Given the description of an element on the screen output the (x, y) to click on. 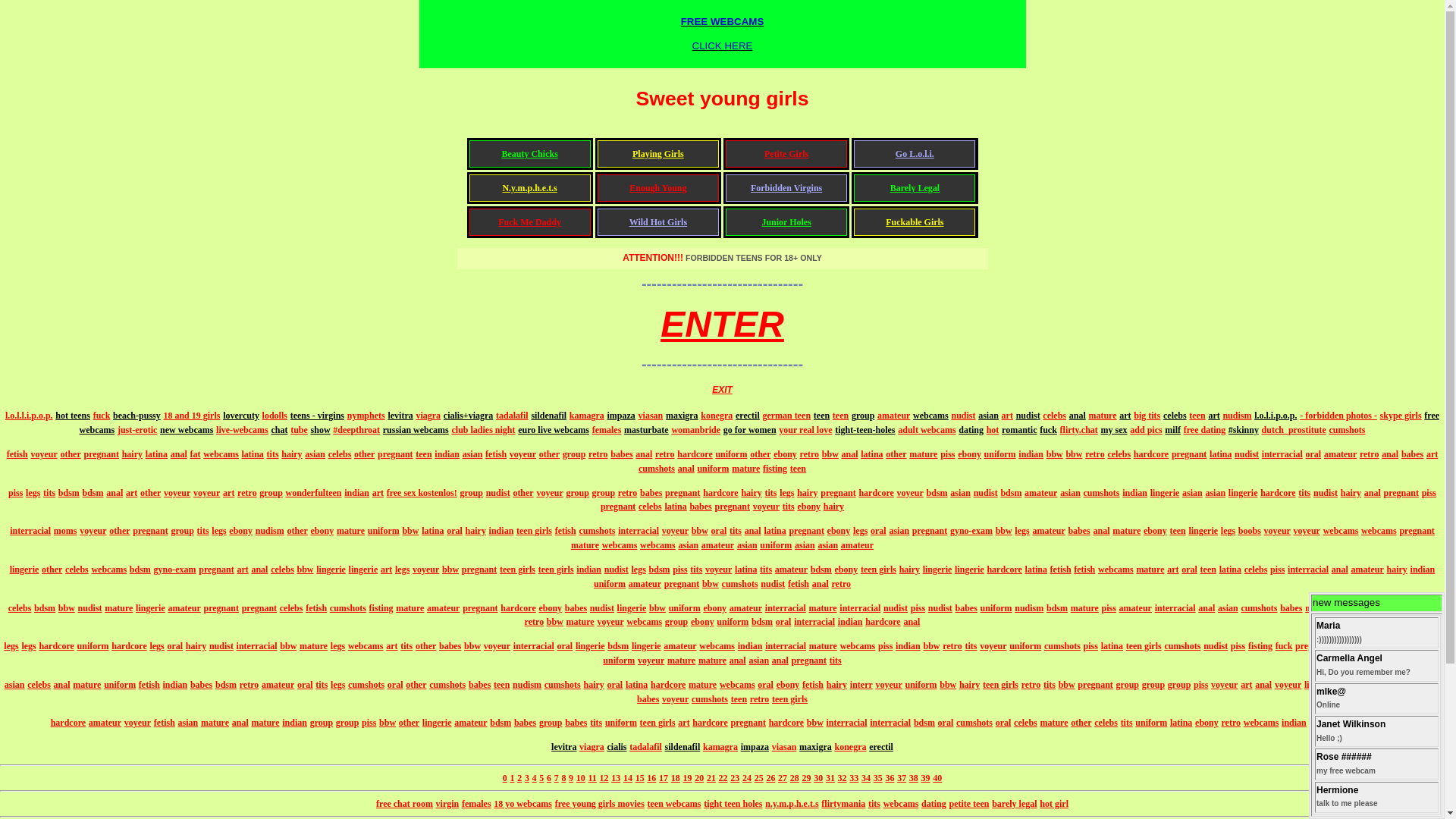
teen Element type: text (821, 415)
tits Element type: text (788, 506)
dutch_prostitute Element type: text (1293, 429)
indian Element type: text (1392, 607)
tight teen holes Element type: text (732, 803)
retro Element type: text (759, 698)
hairy Element type: text (475, 530)
group Element type: text (573, 453)
viasan Element type: text (650, 415)
nudist Element type: text (601, 607)
bdsm Element type: text (44, 607)
tits Element type: text (1304, 492)
18 yo webcams Element type: text (522, 803)
tits Element type: text (874, 803)
legs Element type: text (1340, 645)
oral Element type: text (454, 530)
anal Element type: text (1263, 684)
tits Element type: text (49, 492)
webcams Element type: text (1378, 530)
nudist Element type: text (895, 607)
latina Element type: text (675, 506)
voyeur Element type: text (137, 722)
webcams Element type: text (930, 415)
nudism Element type: text (1236, 415)
art Element type: text (391, 645)
oral Element type: text (305, 684)
retro Element type: text (664, 453)
hardcore Element type: text (55, 645)
amateur Element type: text (1340, 453)
babes Element type: text (525, 722)
piss Element type: text (1428, 492)
cumshots Element type: text (447, 684)
asian Element type: text (472, 453)
oral Element type: text (1189, 569)
tits Element type: text (970, 645)
Fuckable Girls Element type: text (914, 221)
- forbidden photos - Element type: text (1338, 415)
hardcore Element type: text (128, 645)
latina Element type: text (1181, 722)
babes Element type: text (201, 684)
asian Element type: text (827, 544)
oral Element type: text (945, 722)
ebony Element type: text (1155, 530)
bbw Element type: text (699, 530)
teens - virgins Element type: text (317, 415)
lingerie Element type: text (1202, 530)
indian Element type: text (588, 569)
erectil Element type: text (881, 746)
amateur Element type: text (442, 607)
your real love Element type: text (804, 429)
cumshots Element type: text (562, 684)
asian Element type: text (988, 415)
voyeur Element type: text (1349, 607)
indian Element type: text (446, 453)
Petite Girls Element type: text (786, 153)
amateur Element type: text (1324, 722)
teen webcams Element type: text (674, 803)
asian Element type: text (1192, 492)
group Element type: text (550, 722)
uniform Element type: text (621, 722)
gyno-exam Element type: text (971, 530)
live-webcams Element type: text (242, 429)
webcams Element type: text (220, 453)
teen girls Element type: text (789, 698)
legs Element type: text (402, 569)
5 Element type: text (541, 777)
pregnant Element type: text (1312, 645)
cumshots Element type: text (709, 698)
barely legal Element type: text (1013, 803)
40 Element type: text (936, 777)
mature Element type: text (745, 468)
oral Element type: text (783, 621)
bbw Element type: text (710, 583)
mature Element type: text (1053, 722)
teen Element type: text (738, 698)
retro Element type: text (534, 621)
group Element type: text (181, 530)
nudist Element type: text (772, 583)
levitra Element type: text (563, 746)
interracial Element type: text (785, 607)
celebs Element type: text (38, 684)
latina Element type: text (1112, 645)
art Element type: text (1355, 645)
pregnant Element type: text (929, 530)
indian Element type: text (849, 621)
34 Element type: text (865, 777)
mature Element type: text (712, 660)
cumshots Element type: text (656, 468)
celebs Element type: text (282, 569)
tight-teen-holes Element type: text (864, 429)
moms Element type: text (65, 530)
anal Element type: text (240, 722)
art Element type: text (1246, 684)
piss Element type: text (1200, 684)
ebony Element type: text (1206, 722)
teen Element type: text (798, 468)
nudist Element type: text (962, 415)
tits Element type: text (735, 530)
uniform Element type: text (1424, 645)
anal Element type: text (114, 492)
voyeur Element type: text (888, 684)
boobs Element type: text (1249, 530)
go for women Element type: text (749, 429)
bbw Element type: text (472, 645)
other Element type: text (408, 722)
hairy Element type: text (750, 492)
lingerie Element type: text (937, 569)
fuck Element type: text (1283, 645)
piss Element type: text (917, 607)
teen girls Element type: text (657, 722)
20 Element type: text (698, 777)
my sex Element type: text (1114, 429)
pregnant Element type: text (478, 569)
group Element type: text (1127, 684)
hardcore Element type: text (667, 684)
babes Element type: text (575, 607)
retro Element type: text (1031, 684)
nudist Element type: text (616, 569)
teen Element type: text (1177, 530)
asian Element type: text (188, 722)
indian Element type: text (1134, 492)
pregnant Element type: text (100, 453)
webcams Element type: text (716, 645)
just-erotic Element type: text (136, 429)
hardcore Element type: text (785, 722)
voyeur Element type: text (1224, 684)
mature Element type: text (118, 607)
interr Element type: text (861, 684)
retro Element type: text (1369, 453)
0 Element type: text (504, 777)
piss Element type: text (1412, 684)
hot Element type: text (992, 429)
fetish Element type: text (812, 684)
37 Element type: text (901, 777)
amateur Element type: text (856, 544)
german teen Element type: text (786, 415)
nudism Element type: text (1028, 607)
mature Element type: text (585, 544)
anal Element type: text (779, 660)
bbw Element type: text (554, 621)
interracial Element type: text (533, 645)
pregnant Element type: text (215, 569)
piss Element type: text (1108, 607)
tube Element type: text (298, 429)
fisting Element type: text (1260, 645)
voyeur Element type: text (675, 530)
uniform Element type: text (383, 530)
25 Element type: text (758, 777)
celebs Element type: text (339, 453)
other Element type: text (759, 453)
ebony Element type: text (785, 453)
nudist Element type: text (1325, 492)
9 Element type: text (570, 777)
nudist Element type: text (940, 607)
babes Element type: text (1412, 453)
hairy Element type: text (132, 453)
bbw Element type: text (287, 645)
cumshots Element type: text (739, 583)
legs Element type: text (1021, 530)
interracial Element type: text (29, 530)
tits Element type: text (272, 453)
teen Element type: text (1208, 569)
konegra Element type: text (716, 415)
konegra Element type: text (850, 746)
asian Element type: text (804, 544)
retro Element type: text (1094, 453)
cumshots Element type: text (1101, 492)
group Element type: text (862, 415)
anal Element type: text (752, 530)
amateur Element type: text (679, 645)
legs Element type: text (337, 645)
webcams Element type: text (1115, 569)
free dating Element type: text (1204, 429)
group Element type: text (1382, 722)
hardcore Element type: text (67, 722)
mature Element type: text (580, 621)
webcams Element type: text (619, 544)
Fuck Me Daddy Element type: text (529, 221)
indian Element type: text (907, 645)
other Element type: text (895, 453)
19 Element type: text (686, 777)
pregnant Element type: text (1416, 530)
hot teens Element type: text (72, 415)
bdsm Element type: text (1056, 607)
celebs Element type: text (19, 607)
mature Element type: text (822, 607)
asian Element type: text (687, 544)
10 Element type: text (580, 777)
bdsm Element type: text (92, 492)
indian Element type: text (1422, 569)
uniform Element type: text (93, 645)
free sex kostenlos! Element type: text (421, 492)
group Element type: text (346, 722)
webcams Element type: text (644, 621)
18 Element type: text (675, 777)
teen girls Element type: text (878, 569)
add pics Element type: text (1145, 429)
piss Element type: text (947, 453)
anal Element type: text (1100, 530)
tits Element type: text (1371, 607)
voyeur Element type: text (1277, 530)
mature Element type: text (265, 722)
group Element type: text (603, 492)
asian Element type: text (1227, 607)
n.y.m.p.h.e.t.s Element type: text (791, 803)
hardcore Element type: text (517, 607)
sildenafil Element type: text (682, 746)
nudist Element type: text (1028, 415)
legs Element type: text (860, 530)
group Element type: text (676, 621)
webcams Element type: text (1261, 722)
anal Element type: text (1339, 569)
masturbate Element type: text (646, 429)
babes Element type: text (966, 607)
webcams Element type: text (737, 684)
wonderfulteen Element type: text (313, 492)
13 Element type: text (615, 777)
piss Element type: text (1237, 645)
pregnant Element type: text (837, 492)
voyeur Element type: text (910, 492)
oral Element type: text (719, 530)
babes Element type: text (479, 684)
mature Element type: text (1319, 607)
ENTER Element type: text (722, 324)
tits Element type: text (595, 722)
legs Element type: text (156, 645)
12 Element type: text (603, 777)
voyeur Element type: text (549, 492)
art Element type: text (228, 492)
interracial Element type: text (1174, 607)
16 Element type: text (650, 777)
bdsm Element type: text (617, 645)
voyeur Element type: text (496, 645)
indian Element type: text (1030, 453)
hardcore Element type: text (882, 621)
amateur Element type: text (791, 569)
beach-pussy Element type: text (136, 415)
nymphets Element type: text (366, 415)
nudist Element type: text (1215, 645)
asian Element type: text (14, 684)
lingerie Element type: text (436, 722)
hairy Element type: text (969, 684)
bbw Element type: text (305, 569)
FREE WEBCAMS
CLICK HERE Element type: text (722, 34)
l.o.l.i.p.o.p. Element type: text (1275, 415)
teen Element type: text (501, 684)
uniform Element type: text (921, 684)
latina Element type: text (871, 453)
voyeur Element type: text (1306, 530)
lingerie Element type: text (646, 645)
dating Element type: text (970, 429)
Junior Holes Element type: text (785, 221)
asian Element type: text (1070, 492)
pregnant Element type: text (1094, 684)
latina Element type: text (1230, 569)
39 Element type: text (925, 777)
retro Element type: text (598, 453)
levitra Element type: text (399, 415)
babes Element type: text (1291, 607)
voyeur Element type: text (650, 660)
indian Element type: text (175, 684)
other Element type: text (415, 684)
amateur Element type: text (893, 415)
hairy Element type: text (1350, 492)
skype girls Element type: text (1400, 415)
other Element type: text (549, 453)
hairy Element type: text (1396, 569)
bdsm Element type: text (659, 569)
bdsm Element type: text (1010, 492)
21 Element type: text (710, 777)
fetish Element type: text (1084, 569)
gyno-exam Element type: text (174, 569)
teen Element type: text (840, 415)
uniform Element type: text (1025, 645)
bdsm Element type: text (761, 621)
mature Element type: text (1149, 569)
voyeur Element type: text (176, 492)
adult webcams Element type: text (926, 429)
23 Element type: text (734, 777)
group Element type: text (270, 492)
teen Element type: text (1196, 415)
fetish Element type: text (149, 684)
lingerie Element type: text (1318, 684)
webcams Element type: text (857, 645)
asian Element type: text (758, 660)
lodolls Element type: text (274, 415)
mature Element type: text (409, 607)
uniform Element type: text (1000, 453)
22 Element type: text (723, 777)
art Element type: text (1431, 453)
free chat room Element type: text (404, 803)
ebony Element type: text (808, 506)
celebs Element type: text (1025, 722)
6 Element type: text (548, 777)
webcams Element type: text (901, 803)
art Element type: text (1213, 415)
interracial Element type: text (859, 607)
anal Element type: text (61, 684)
oral Element type: text (1344, 684)
amateur Element type: text (1367, 569)
piss Element type: text (1372, 645)
hardcore Element type: text (1150, 453)
free young girls movies Element type: text (599, 803)
fetish Element type: text (164, 722)
indian Element type: text (1293, 722)
cialis+viagra Element type: text (468, 415)
hardcore Element type: text (719, 492)
cumshots Element type: text (1182, 645)
pregnant Element type: text (731, 506)
33 Element type: text (853, 777)
35 Element type: text (877, 777)
kamagra Element type: text (719, 746)
hairy Element type: text (836, 684)
2 Element type: text (519, 777)
tits Element type: text (1126, 722)
nudist Element type: text (90, 607)
retro Element type: text (952, 645)
uniform Element type: text (609, 583)
lingerie Element type: text (1243, 492)
uniform Element type: text (618, 660)
amateur Element type: text (183, 607)
mature Element type: text (1084, 607)
fetish Element type: text (495, 453)
anal Element type: text (1372, 492)
27 Element type: text (782, 777)
indian Element type: text (294, 722)
mature Element type: text (214, 722)
hardcore Element type: text (694, 453)
31 Element type: text (829, 777)
bbw Element type: text (930, 645)
nudist Element type: text (985, 492)
hairy Element type: text (593, 684)
#skinny Element type: text (1243, 429)
babes Element type: text (575, 722)
interracial Element type: text (638, 530)
mature Element type: text (86, 684)
interracial Element type: text (785, 645)
tits Element type: text (835, 660)
retro Element type: text (1230, 722)
tits Element type: text (321, 684)
lingerie Element type: text (24, 569)
bbw Element type: text (830, 453)
celebs Element type: text (1054, 415)
retro Element type: text (627, 492)
group Element type: text (470, 492)
mature Element type: text (681, 660)
teen girls Element type: text (1000, 684)
lingerie Element type: text (969, 569)
ebony Element type: text (969, 453)
pregnant Element type: text (394, 453)
bdsm Element type: text (936, 492)
Enough Young Element type: text (657, 187)
legs Element type: text (1227, 530)
other Element type: text (522, 492)
8 Element type: text (563, 777)
females Element type: text (476, 803)
15 Element type: text (639, 777)
anal Element type: text (685, 468)
legs Element type: text (218, 530)
club ladies night Element type: text (482, 429)
amateur Element type: text (470, 722)
Playing Girls Element type: text (658, 153)
group Element type: text (1153, 684)
interracial Element type: text (846, 722)
anal Element type: text (737, 660)
3 Element type: text (526, 777)
oral Element type: text (1003, 722)
1 Element type: text (511, 777)
bbw Element type: text (814, 722)
legs Element type: text (32, 492)
cumshots Element type: text (366, 684)
big tits Element type: text (1146, 415)
voyeur Element type: text (92, 530)
l.o.l.l.i.p.o.p. Element type: text (29, 415)
anal Element type: text (178, 453)
dating Element type: text (933, 803)
bdsm Element type: text (924, 722)
hardcore Element type: text (1277, 492)
tits Element type: text (696, 569)
mature Element type: text (313, 645)
asian Element type: text (747, 544)
impaza Element type: text (754, 746)
oral Element type: text (765, 684)
art Element type: text (386, 569)
bdsm Element type: text (68, 492)
cumshots Element type: text (347, 607)
mature Element type: text (1102, 415)
mature Element type: text (923, 453)
milf Element type: text (1172, 429)
bbw Element type: text (1073, 453)
tadalafil Element type: text (645, 746)
mature Element type: text (1126, 530)
Wild Hot Girls Element type: text (658, 221)
oral Element type: text (564, 645)
group Element type: text (1178, 684)
celebs Element type: text (1393, 645)
bbw Element type: text (1003, 530)
fetish Element type: text (565, 530)
amateur Element type: text (1135, 607)
bdsm Element type: text (500, 722)
webcams Element type: text (1340, 530)
interracial Element type: text (1281, 453)
art Element type: text (683, 722)
lingerie Element type: text (150, 607)
other Element type: text (150, 492)
pregnant Element type: text (747, 722)
group Element type: text (321, 722)
bbw Element type: text (387, 722)
pregnant Element type: text (682, 492)
nudism Element type: text (269, 530)
Beauty Chicks Element type: text (529, 153)
hot girl Element type: text (1053, 803)
32 Element type: text (842, 777)
babes Element type: text (647, 698)
11 Element type: text (592, 777)
maxigra Element type: text (815, 746)
females Element type: text (606, 429)
impaza Element type: text (620, 415)
bdsm Element type: text (820, 569)
mature Element type: text (702, 684)
sildenafil Element type: text (548, 415)
celebs Element type: text (291, 607)
chat Element type: text (278, 429)
amateur Element type: text (277, 684)
amateur Element type: text (717, 544)
bbw Element type: text (657, 607)
latina Element type: text (156, 453)
oral Element type: text (1313, 453)
cumshots Element type: text (1346, 429)
bbw Element type: text (1054, 453)
art Element type: text (131, 492)
celebs Element type: text (1255, 569)
38 Element type: text (913, 777)
voyeur Element type: text (1287, 684)
fetish Element type: text (798, 583)
pregnant Element type: text (220, 607)
fetish Element type: text (17, 453)
webcams Element type: text (657, 544)
euro live webcams Element type: text (553, 429)
4 Element type: text (534, 777)
cumshots Element type: text (974, 722)
other Element type: text (296, 530)
uniform Element type: text (119, 684)
ebony Element type: text (549, 607)
bbw Element type: text (947, 684)
uniform Element type: text (730, 453)
retro Element type: text (249, 684)
28 Element type: text (794, 777)
piss Element type: text (885, 645)
latina Element type: text (252, 453)
uniform Element type: text (775, 544)
hairy Element type: text (291, 453)
lingerie Element type: text (1164, 492)
29 Element type: text (806, 777)
teen Element type: text (423, 453)
amateur Element type: text (1048, 530)
bbw Element type: text (450, 569)
30 Element type: text (817, 777)
art Element type: text (1172, 569)
tadalafil Element type: text (511, 415)
interracial Element type: text (889, 722)
mature Element type: text (1422, 607)
kamagra Element type: text (586, 415)
interracial Element type: text (1307, 569)
celebs Element type: text (1174, 415)
oral Element type: text (174, 645)
babes Element type: text (450, 645)
lingerie Element type: text (631, 607)
uniform Element type: text (712, 468)
latina Element type: text (774, 530)
oral Element type: text (615, 684)
lingerie Element type: text (330, 569)
voyeur Element type: text (522, 453)
anal Element type: text (643, 453)
asian Element type: text (1214, 492)
uniform Element type: text (684, 607)
anal Element type: text (1206, 607)
viasan Element type: text (784, 746)
hardcore Element type: text (875, 492)
pregnant Element type: text (1400, 492)
#deepthroat Element type: text (355, 429)
uniform Element type: text (996, 607)
celebs Element type: text (1356, 722)
piss Element type: text (1277, 569)
legs Element type: text (28, 645)
oral Element type: text (878, 530)
cumshots Element type: text (1062, 645)
teen girls Element type: text (1143, 645)
latina Element type: text (745, 569)
mature Element type: text (823, 645)
anal Element type: text (911, 621)
other Element type: text (425, 645)
ebony Element type: text (702, 621)
amateur Element type: text (644, 583)
indian Element type: text (356, 492)
celebs Element type: text (76, 569)
voyeur Element type: text (609, 621)
interracial Element type: text (256, 645)
tits Element type: text (203, 530)
maxigra Element type: text (681, 415)
teen girls Element type: text (556, 569)
nudist Element type: text (1246, 453)
tits Element type: text (770, 492)
bbw Element type: text (66, 607)
pregnant Element type: text (1188, 453)
latina Element type: text (636, 684)
amateur Element type: text (745, 607)
new webcams Element type: text (186, 429)
ebony Element type: text (714, 607)
piss Element type: text (15, 492)
Forbidden Virgins Element type: text (786, 187)
anal Element type: text (1077, 415)
group Element type: text (576, 492)
nudist Element type: text (498, 492)
russian webcams Element type: text (415, 429)
anal Element type: text (1389, 453)
fetish Element type: text (1060, 569)
lingerie Element type: text (590, 645)
indian Element type: text (749, 645)
legs Element type: text (337, 684)
celebs Element type: text (1105, 722)
petite teen Element type: text (968, 803)
36 Element type: text (889, 777)
babes Element type: text (1078, 530)
Go L.o.l.i. Element type: text (914, 153)
bbw Element type: text (1066, 684)
retro Element type: text (247, 492)
voyeur Element type: text (718, 569)
pregnant Element type: text (681, 583)
other Element type: text (69, 453)
bdsm Element type: text (139, 569)
nudist Element type: text (221, 645)
legs Element type: text (10, 645)
other Element type: text (119, 530)
tits Element type: text (765, 569)
hairy Element type: text (807, 492)
pregnant Element type: text (479, 607)
ebony Element type: text (1366, 684)
show Element type: text (320, 429)
asian Element type: text (898, 530)
fisting Element type: text (774, 468)
teen girls Element type: text (534, 530)
asian Element type: text (314, 453)
anal Element type: text (259, 569)
mature Element type: text (350, 530)
oral Element type: text (395, 684)
uniform Element type: text (732, 621)
voyeur Element type: text (43, 453)
other Element type: text (364, 453)
art Element type: text (377, 492)
art Element type: text (1124, 415)
fat Element type: text (194, 453)
bbw Element type: text (409, 530)
18 and 19 girls Element type: text (191, 415)
cumshots Element type: text (596, 530)
fuck Element type: text (1048, 429)
amateur Element type: text (104, 722)
voyeur Element type: text (992, 645)
legs Element type: text (637, 569)
17 Element type: text (663, 777)
babes Element type: text (700, 506)
indian Element type: text (501, 530)
latina Element type: text (1391, 684)
teen girls Element type: text (517, 569)
voyeur Element type: text (675, 698)
hairy Element type: text (195, 645)
latina Element type: text (1036, 569)
pregnant Element type: text (149, 530)
piss Element type: text (679, 569)
flirty.chat Element type: text (1079, 429)
lovercuty Element type: text (240, 415)
retro Element type: text (809, 453)
hairy Element type: text (909, 569)
pregnant Element type: text (805, 530)
24 Element type: text (746, 777)
art Element type: text (1007, 415)
pregnant Element type: text (617, 506)
hairy Element type: text (833, 506)
tits Element type: text (1049, 684)
hardcore Element type: text (1003, 569)
celebs Element type: text (650, 506)
amateur Element type: text (1040, 492)
tits Element type: text (406, 645)
anal Element type: text (820, 583)
art Element type: text (241, 569)
nudism Element type: text (526, 684)
ebony Element type: text (788, 684)
romantic Element type: text (1018, 429)
piss Element type: text (1090, 645)
virgin Element type: text (447, 803)
7 Element type: text (556, 777)
fetish Element type: text (315, 607)
babes Element type: text (651, 492)
latina Element type: text (1220, 453)
other Element type: text (1080, 722)
viagra Element type: text (427, 415)
bdsm Element type: text (225, 684)
Barely Legal Element type: text (914, 187)
fuck Element type: text (101, 415)
womanbride Element type: text (695, 429)
latina Element type: text (432, 530)
asian Element type: text (960, 492)
lingerie Element type: text (363, 569)
uniform Element type: text (1151, 722)
erectil Element type: text (747, 415)
interracial Element type: text (813, 621)
fisting Element type: text (381, 607)
celebs Element type: text (1118, 453)
other Element type: text (51, 569)
bbw Element type: text (1431, 684)
cialis Element type: text (616, 746)
flirtymania Element type: text (843, 803)
voyeur Element type: text (206, 492)
webcams Element type: text (365, 645)
voyeur Element type: text (425, 569)
ebony Element type: text (240, 530)
cumshots Element type: text (1258, 607)
pregnant Element type: text (808, 660)
ebony Element type: text (846, 569)
webcams Element type: text (108, 569)
piss Element type: text (368, 722)
anal Element type: text (849, 453)
voyeur Element type: text (766, 506)
hardcore Element type: text (709, 722)
pregnant Element type: text (258, 607)
ebony Element type: text (838, 530)
ebony Element type: text (322, 530)
14 Element type: text (627, 777)
EXIT Element type: text (722, 389)
viagra Element type: text (591, 746)
26 Element type: text (770, 777)
N.y.m.p.h.e.t.s Element type: text (529, 187)
legs Element type: text (786, 492)
retro Element type: text (840, 583)
free webcams Element type: text (759, 422)
babes Element type: text (621, 453)
